Given the description of an element on the screen output the (x, y) to click on. 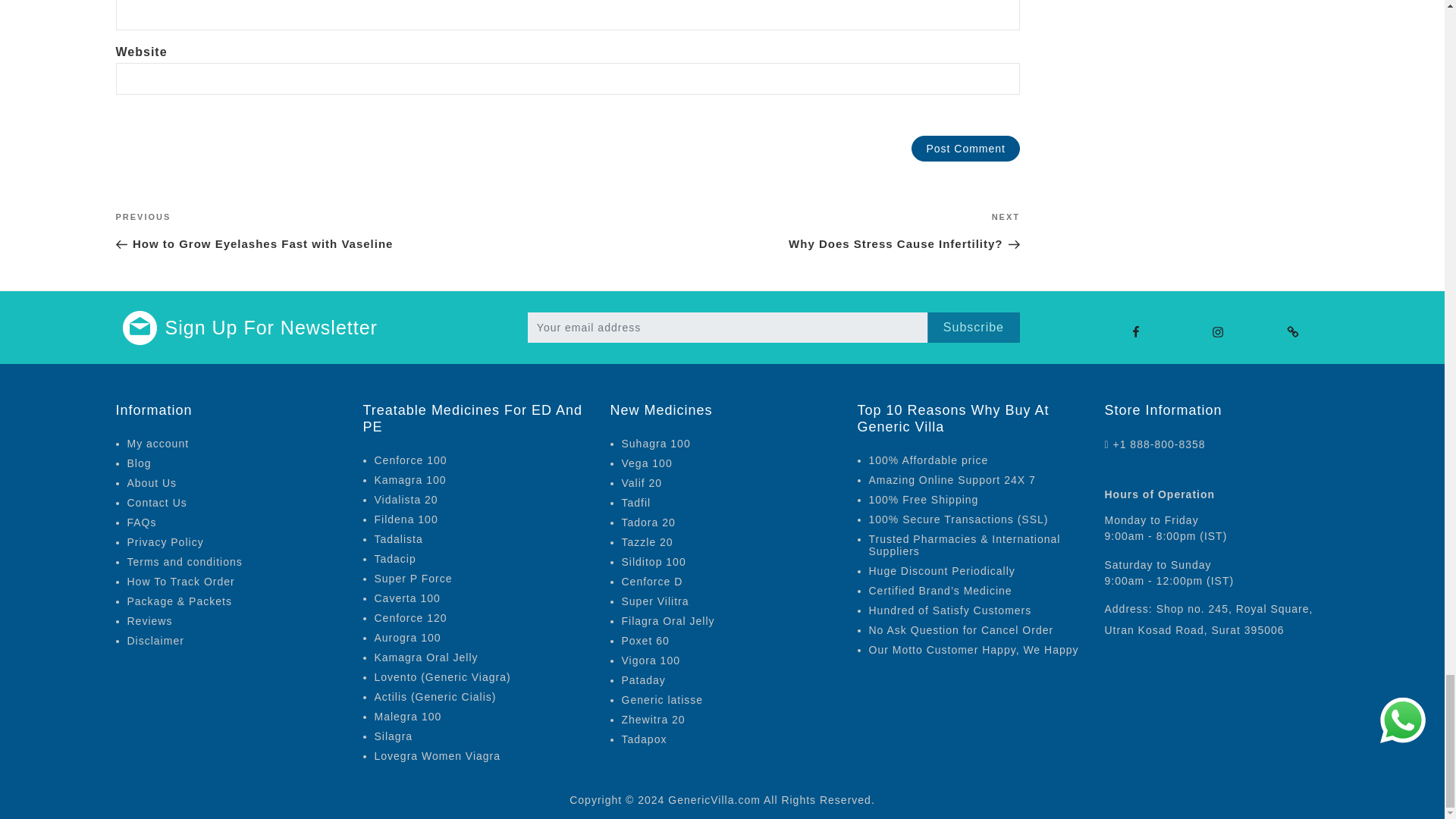
Post Comment (965, 148)
